Given the description of an element on the screen output the (x, y) to click on. 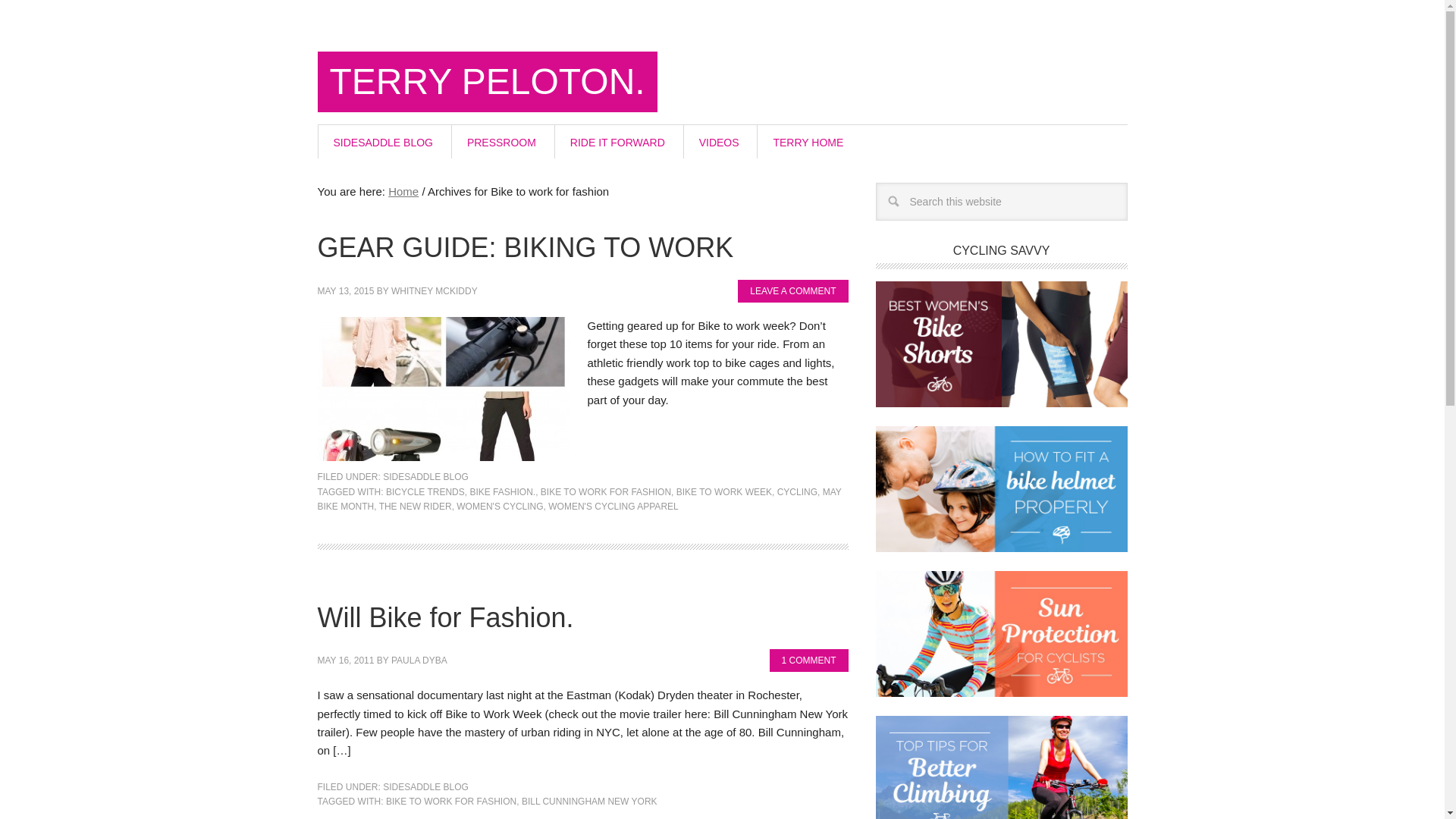
BILL CUNNINGHAM NEW YORK (589, 801)
MAY BIKE MONTH (579, 499)
TERRY HOME (808, 141)
PAULA DYBA (418, 660)
CYCLING (796, 491)
RIDE IT FORWARD (616, 141)
LEAVE A COMMENT (792, 291)
VIDEOS (719, 141)
PRESSROOM (501, 141)
Will Bike for Fashion. (445, 617)
